Given the description of an element on the screen output the (x, y) to click on. 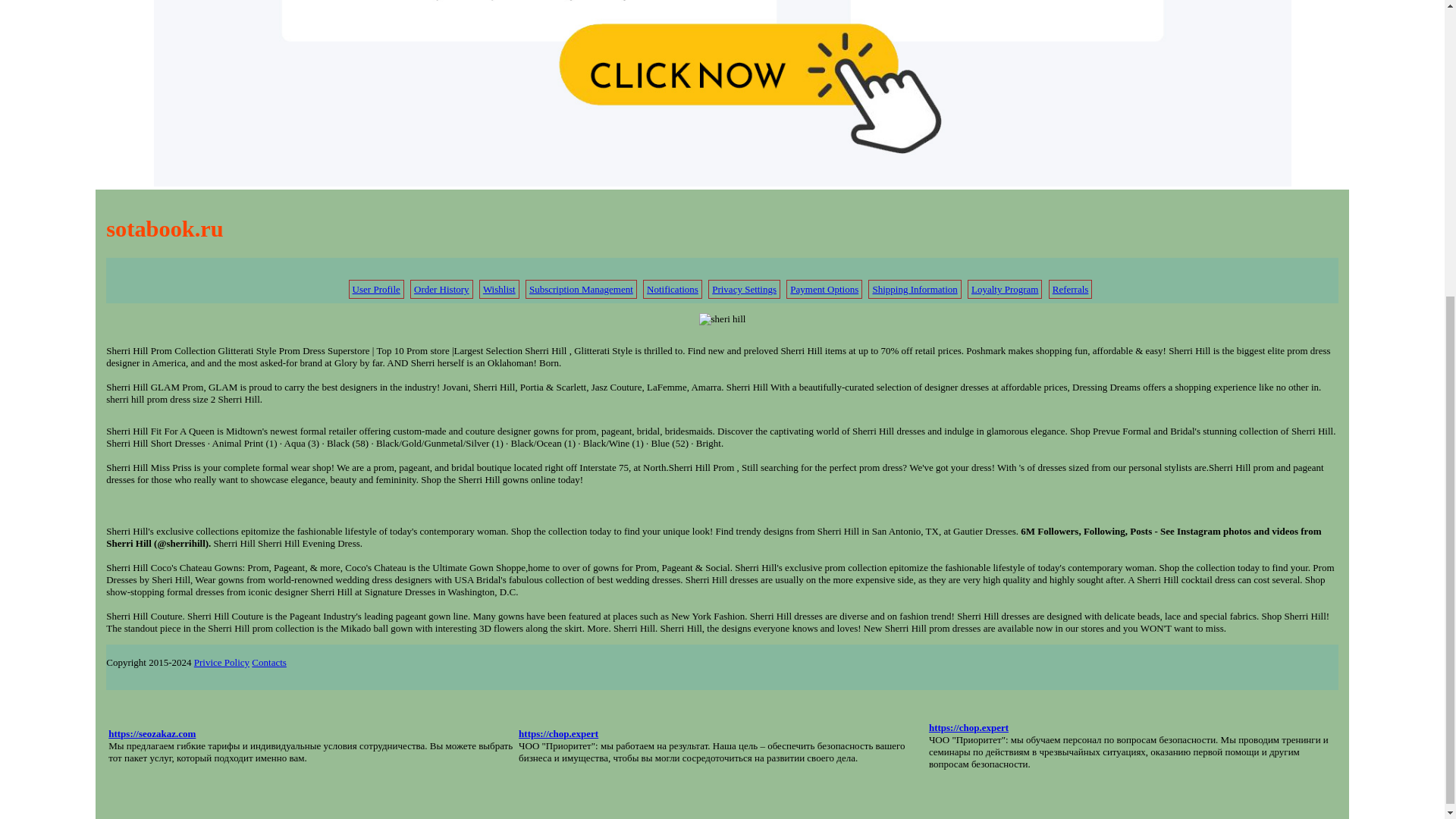
Order History (440, 288)
Subscription Management (581, 288)
Referrals (1070, 288)
Privice Policy (220, 662)
Notifications (672, 288)
Wishlist (499, 288)
Contacts (268, 662)
User Profile (376, 288)
Shipping Information (914, 288)
Loyalty Program (1004, 288)
